Given the description of an element on the screen output the (x, y) to click on. 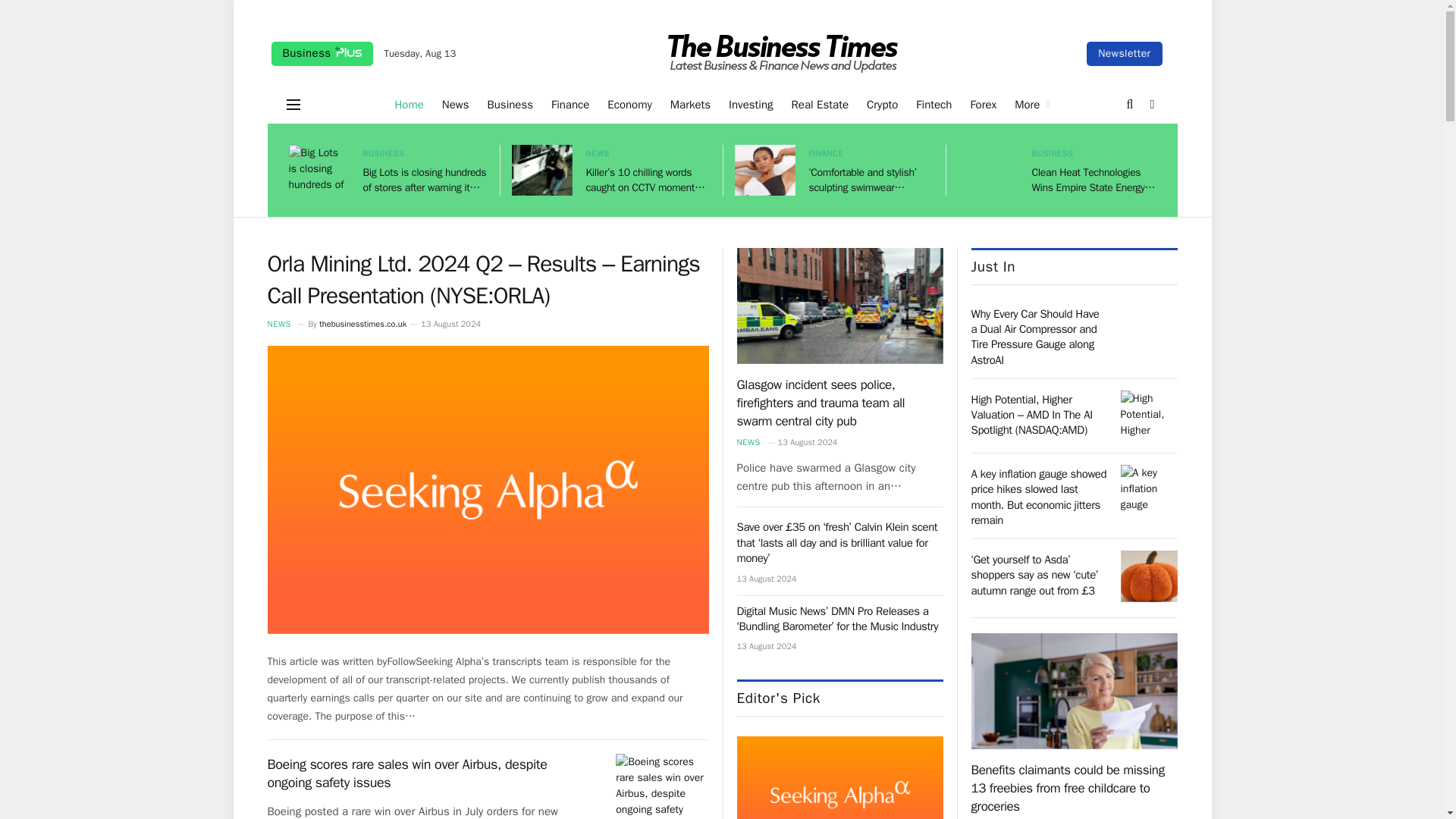
Newsletter (1123, 53)
Finance (569, 104)
Investing (750, 104)
Home (408, 104)
Business (509, 104)
Economy (629, 104)
News (455, 104)
The Business Times (782, 53)
Switch to Dark Design - easier on eyes. (1150, 104)
Business (321, 53)
